Given the description of an element on the screen output the (x, y) to click on. 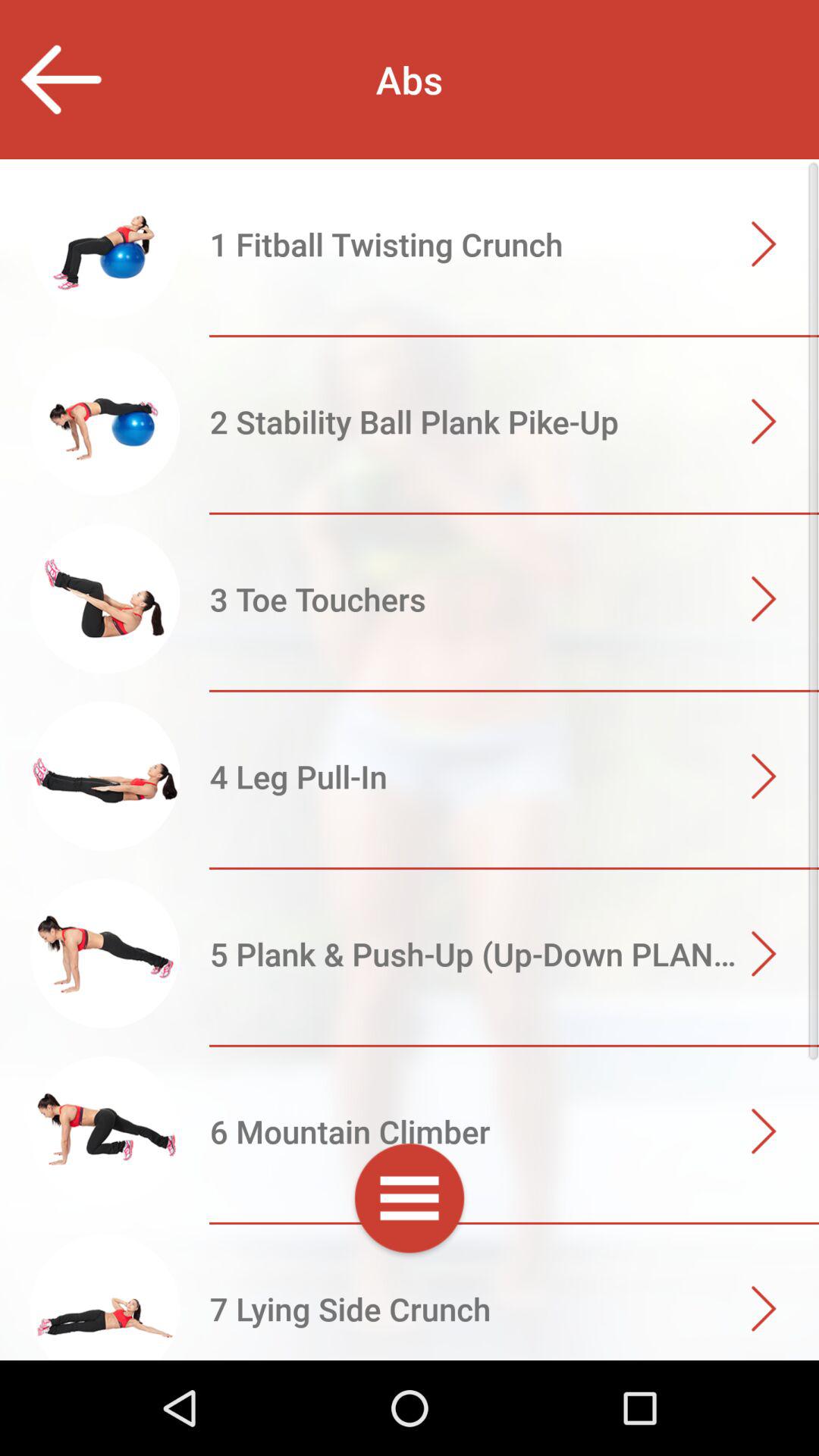
go back (59, 79)
